Given the description of an element on the screen output the (x, y) to click on. 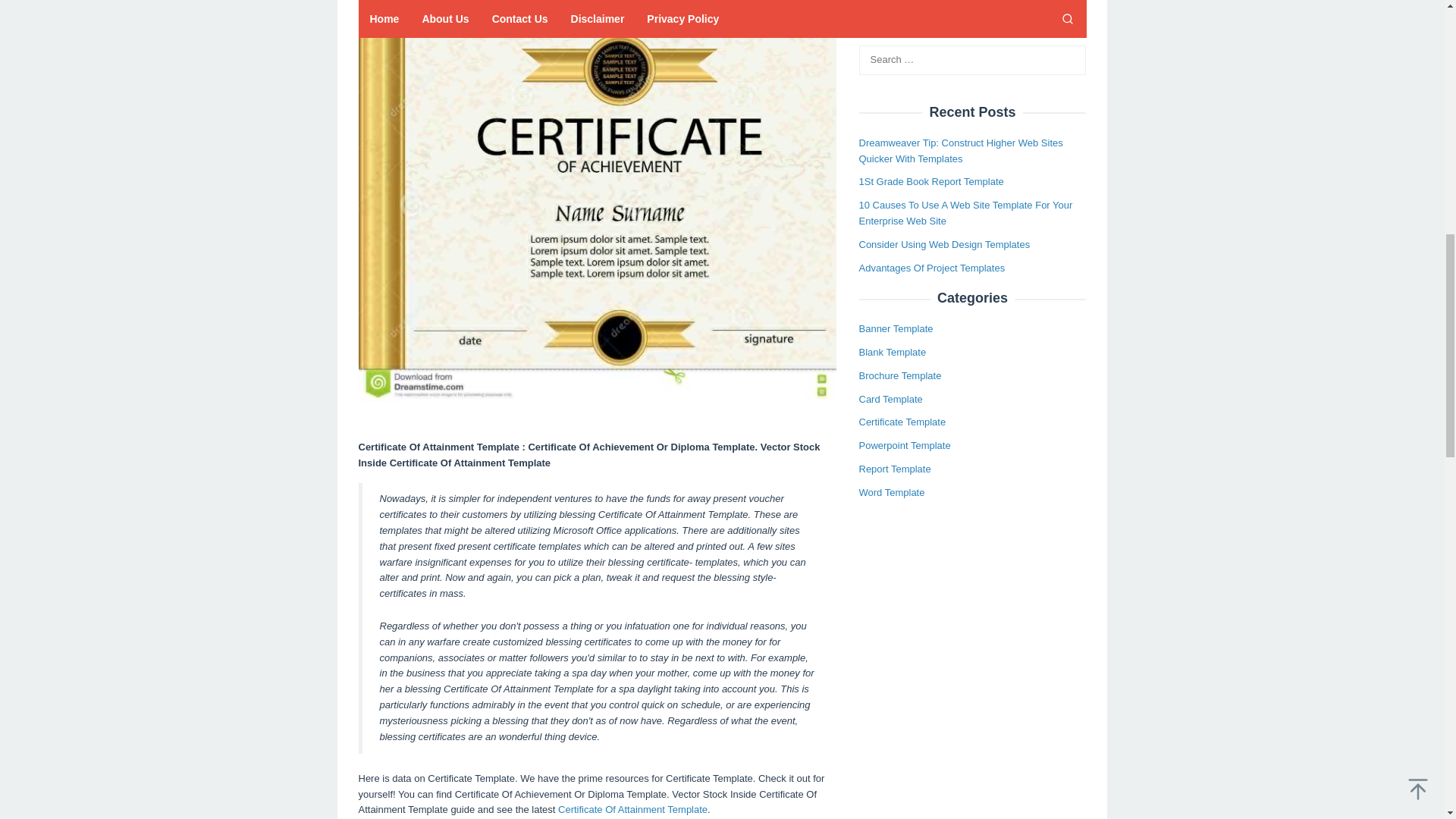
Certificate Of Attainment Template (632, 808)
Advertisement (596, 7)
